Given the description of an element on the screen output the (x, y) to click on. 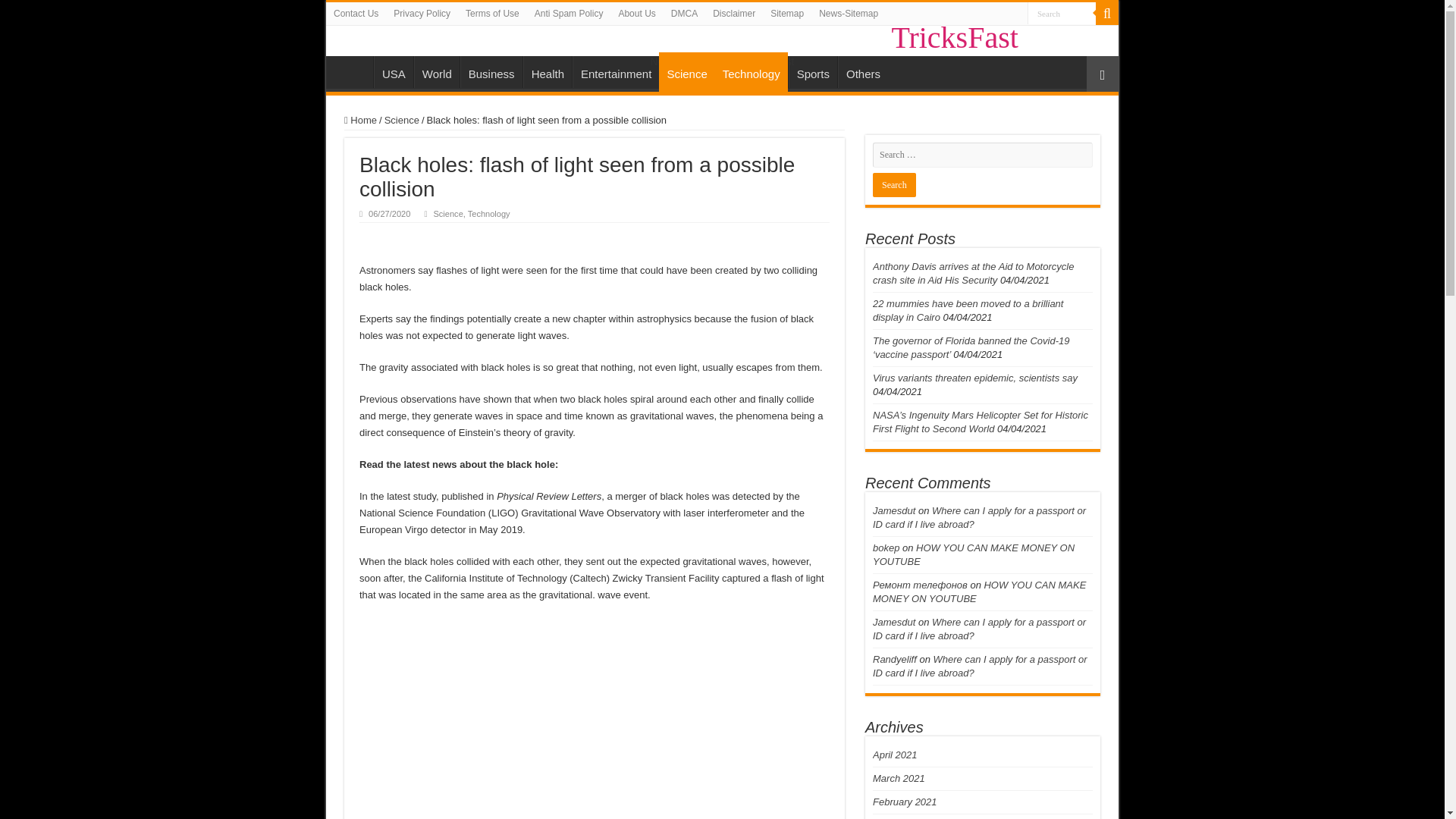
Anti Spam Policy (569, 13)
Technology (489, 213)
Search (1061, 13)
USA (393, 71)
Entertainment (615, 71)
Search (893, 184)
Random Article (1102, 73)
About Us (636, 13)
Home (352, 71)
22 mummies have been moved to a brilliant display in Cairo (967, 310)
